Given the description of an element on the screen output the (x, y) to click on. 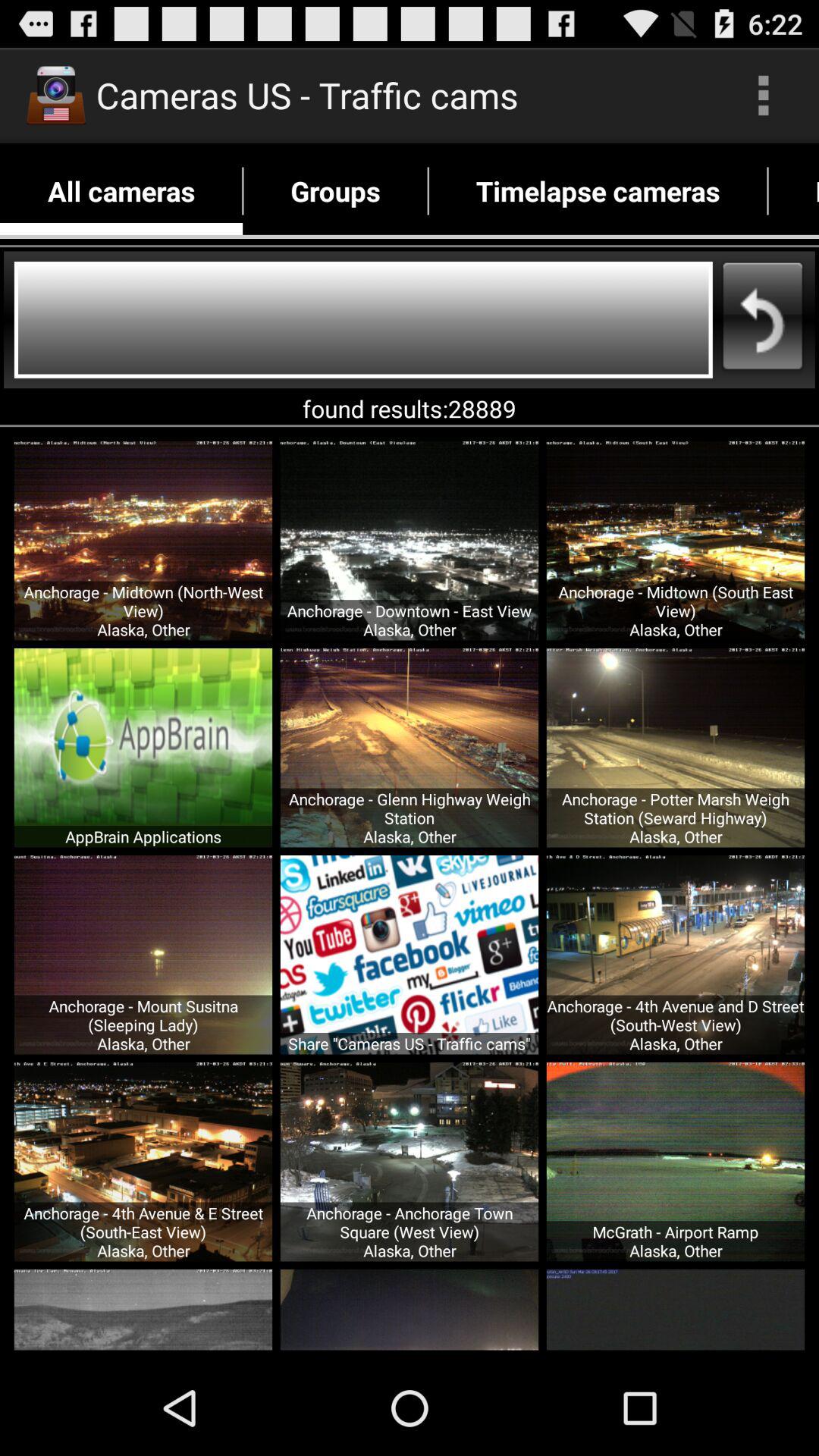
launch the app next to the all cameras app (335, 190)
